Given the description of an element on the screen output the (x, y) to click on. 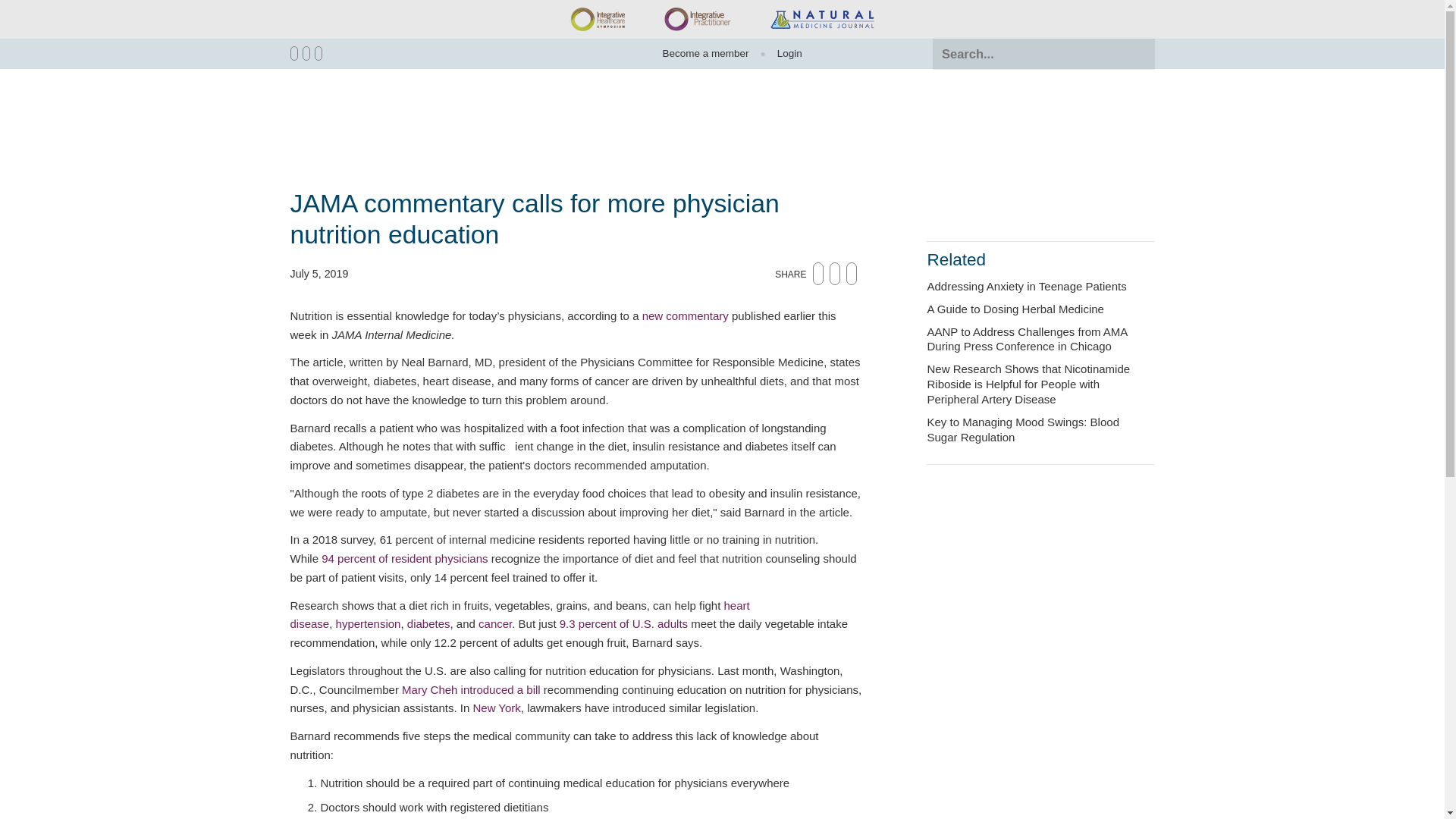
Become a member (705, 52)
Login (783, 52)
